Given the description of an element on the screen output the (x, y) to click on. 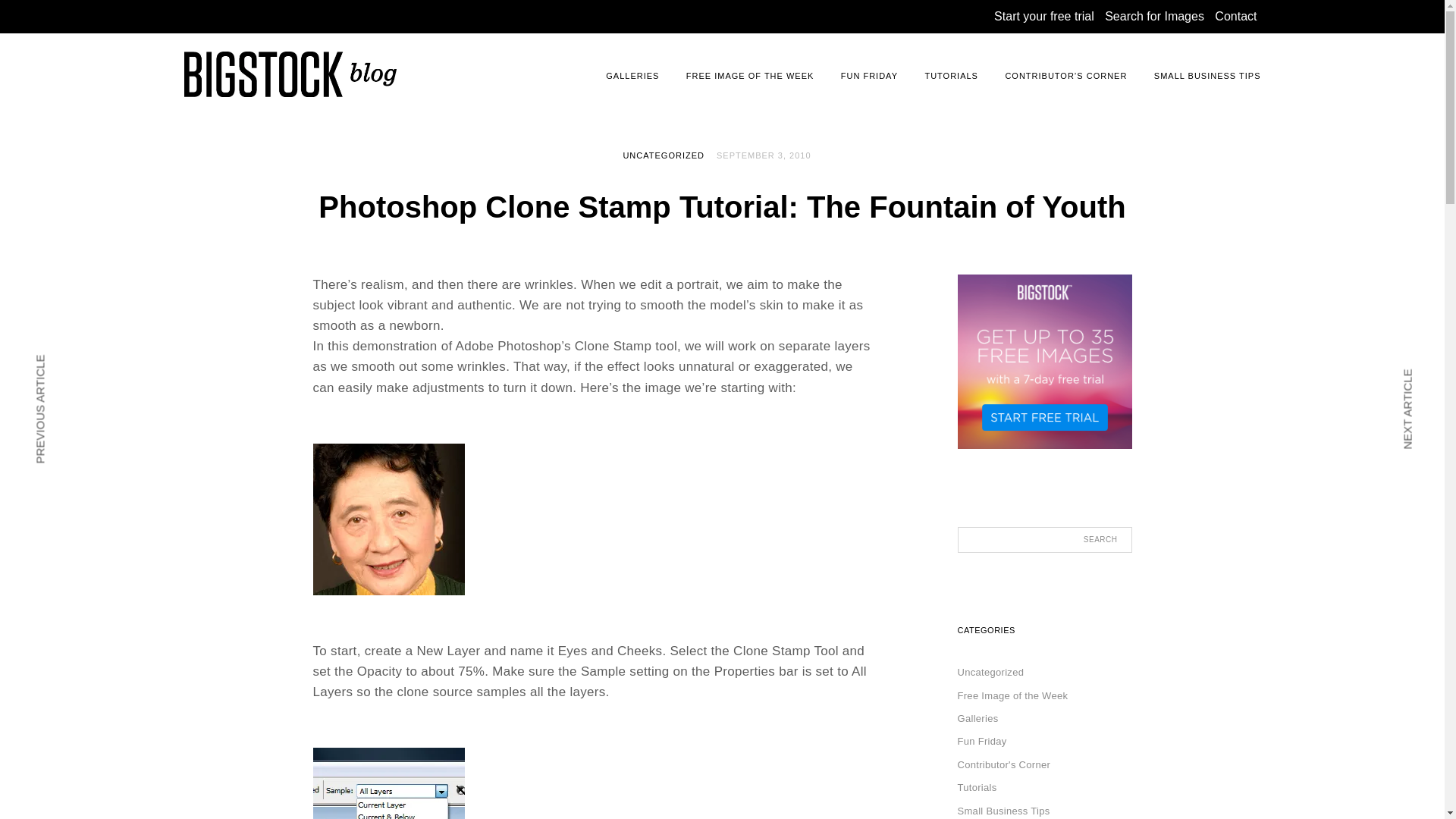
Small Business Tips (1002, 810)
Search (1103, 539)
SEPTEMBER 3, 2010 (763, 154)
FUN FRIDAY (869, 75)
Galleries (976, 717)
SMALL BUSINESS TIPS (1207, 75)
clonestamp01 (388, 519)
UNCATEGORIZED (663, 154)
Search for Images (1154, 15)
Tutorials (975, 787)
GALLERIES (632, 75)
Start your free trial (1044, 15)
clonestamp02 (388, 783)
Free Image of the Week (1011, 695)
FREE IMAGE OF THE WEEK (749, 75)
